Given the description of an element on the screen output the (x, y) to click on. 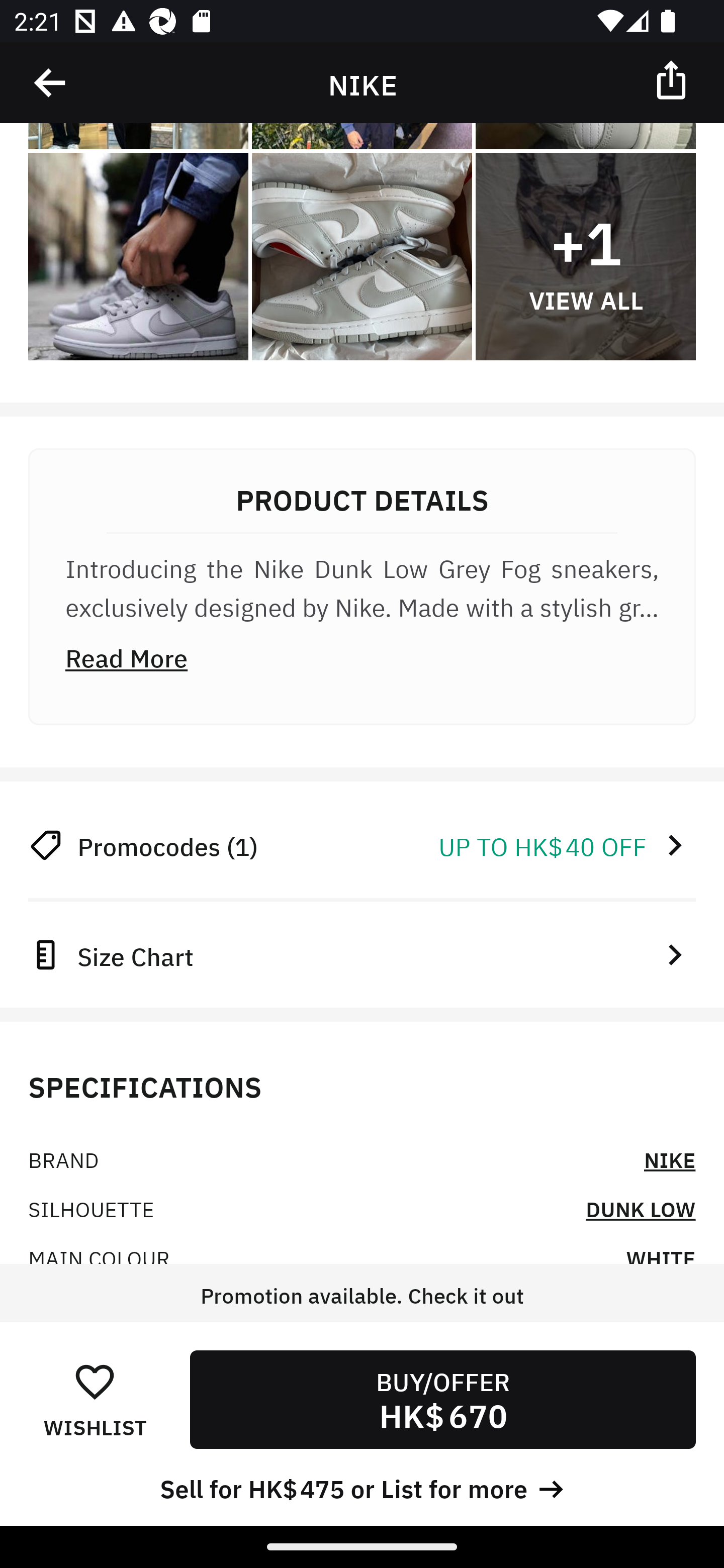
 (50, 83)
 (672, 79)
Promocodes (1) UP TO HK$ 40 OFF  (361, 845)
Size Chart  (361, 953)
NIKE (669, 1158)
DUNK LOW (640, 1208)
BUY/OFFER HK$ 670 (442, 1399)
󰋕 (94, 1380)
Sell for HK$ 475 or List for more (361, 1486)
